Given the description of an element on the screen output the (x, y) to click on. 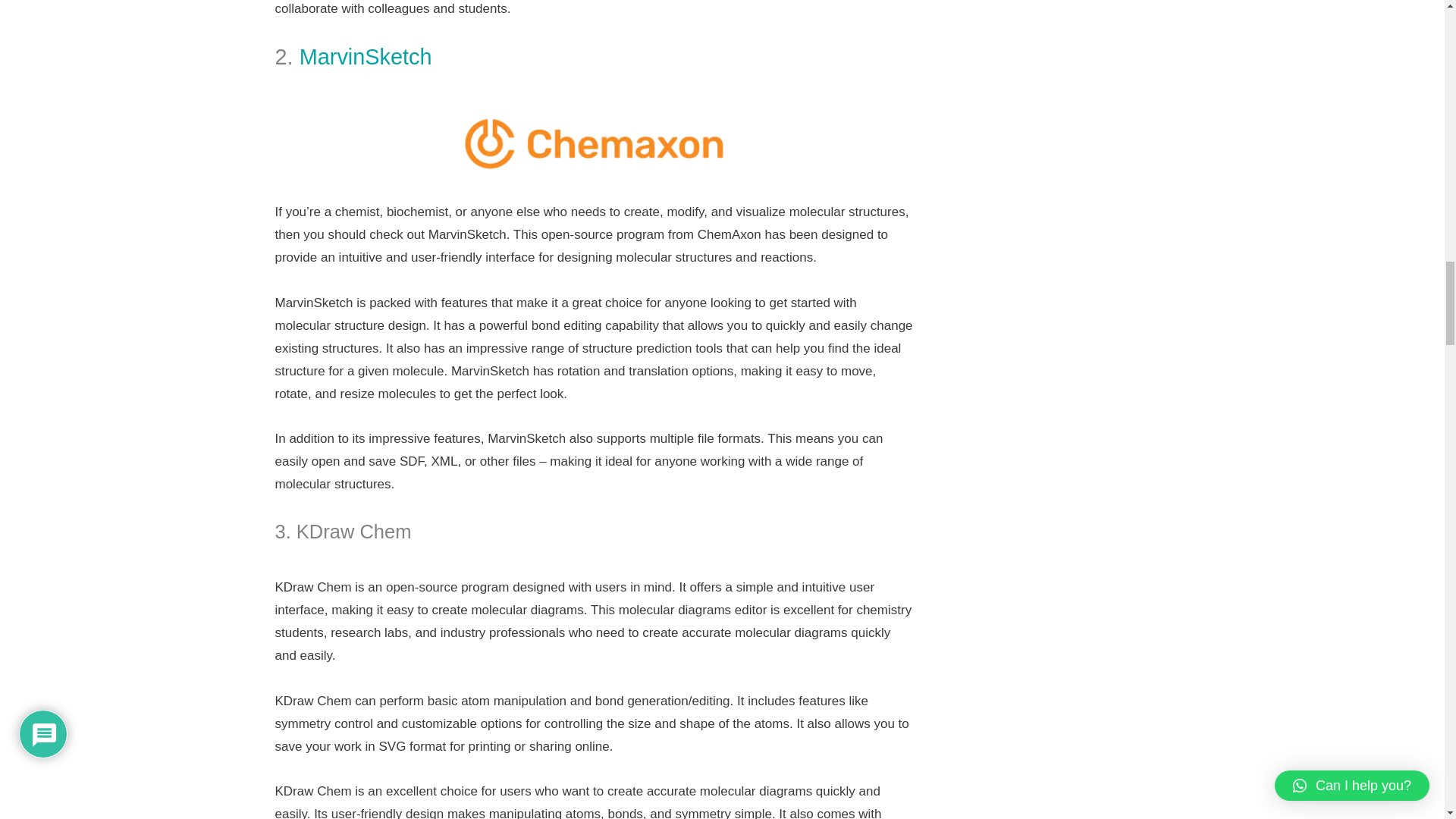
MarvinSketch  (368, 56)
